Given the description of an element on the screen output the (x, y) to click on. 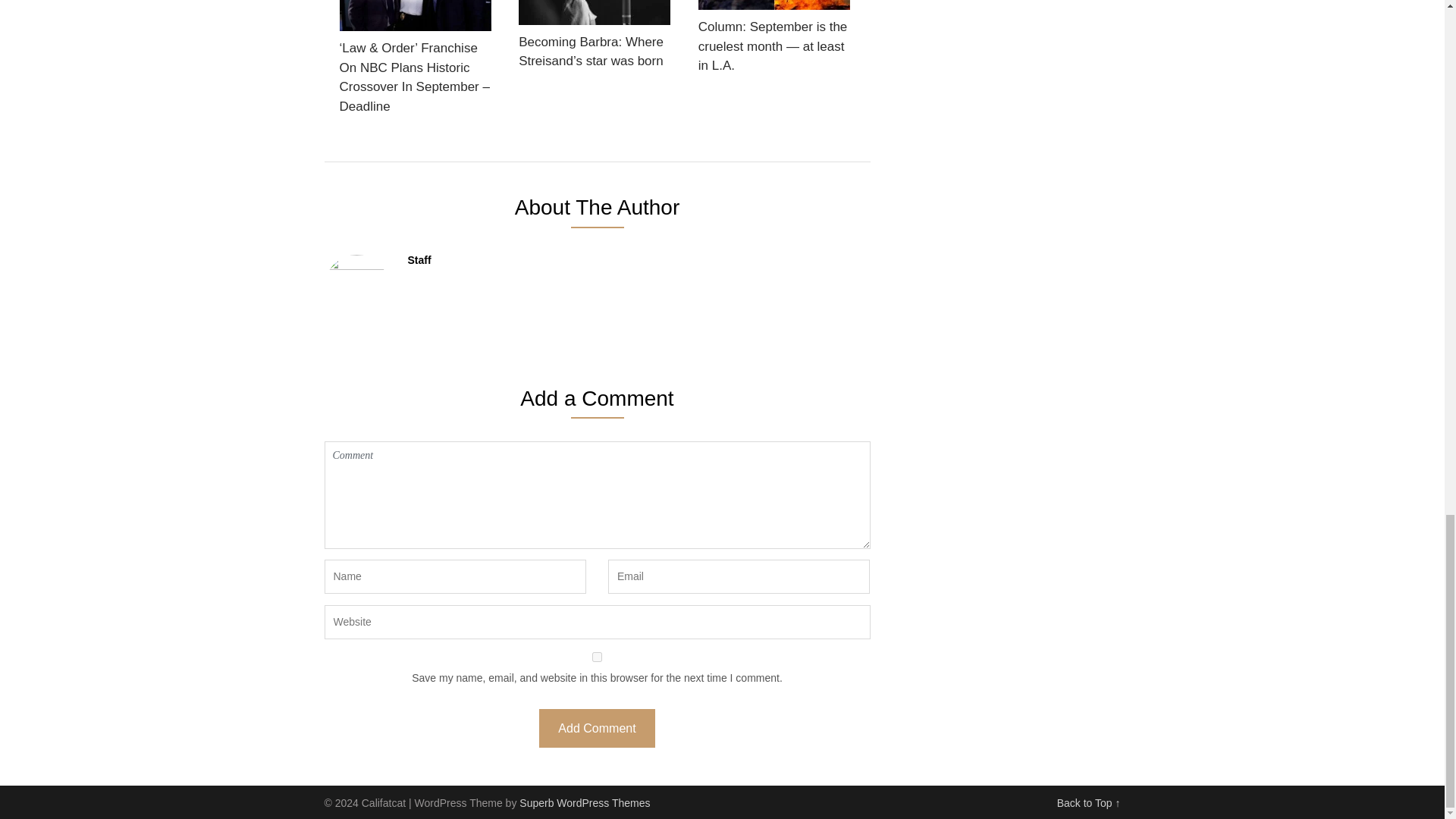
Add Comment (595, 728)
yes (597, 656)
Add Comment (595, 728)
